Given the description of an element on the screen output the (x, y) to click on. 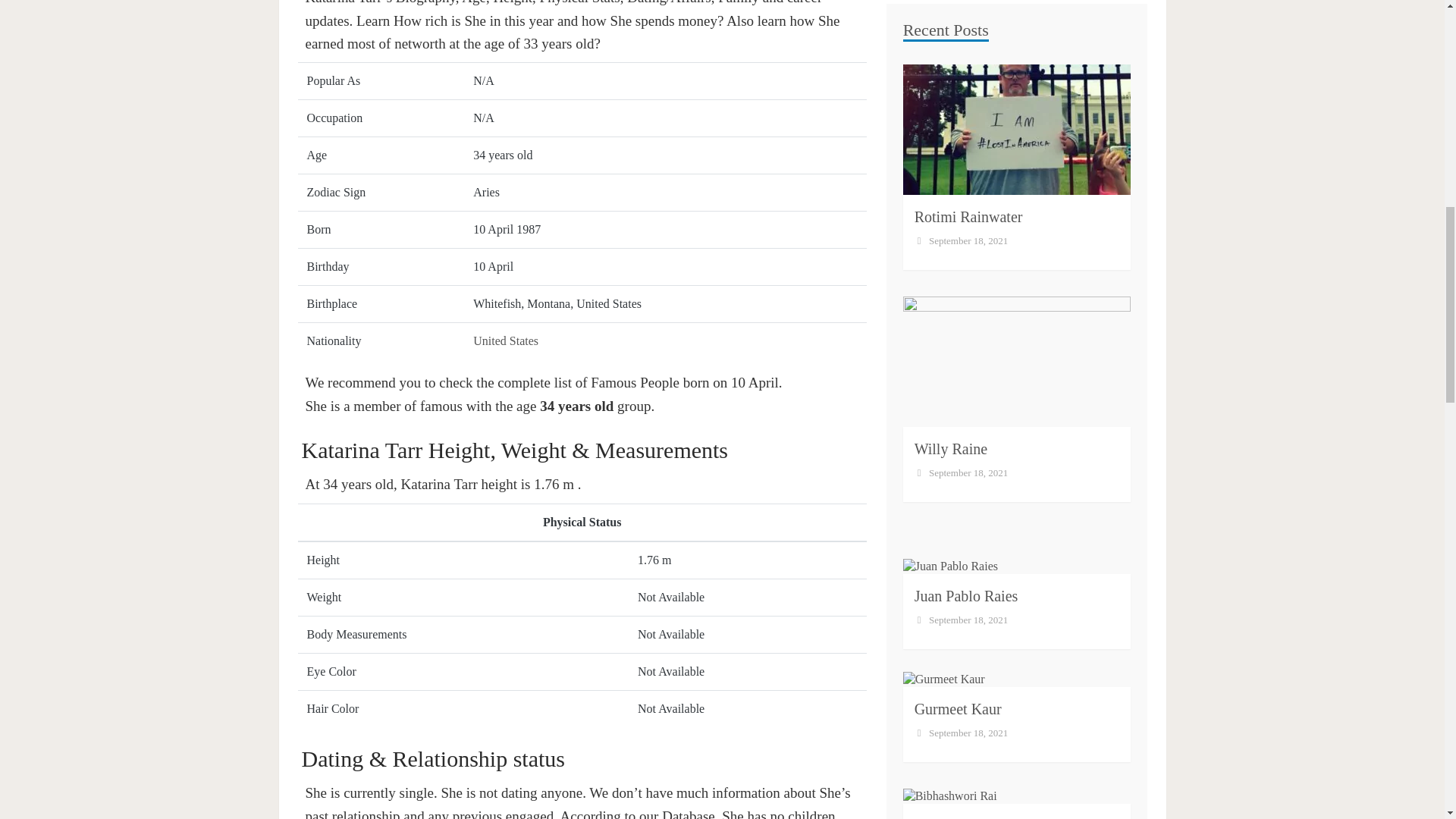
Willy Raine (950, 36)
Juan Pablo Raies (965, 183)
Willy Raine (950, 36)
Gurmeet Kaur (957, 296)
United States (505, 340)
Bibhashwori Rai (965, 412)
